Given the description of an element on the screen output the (x, y) to click on. 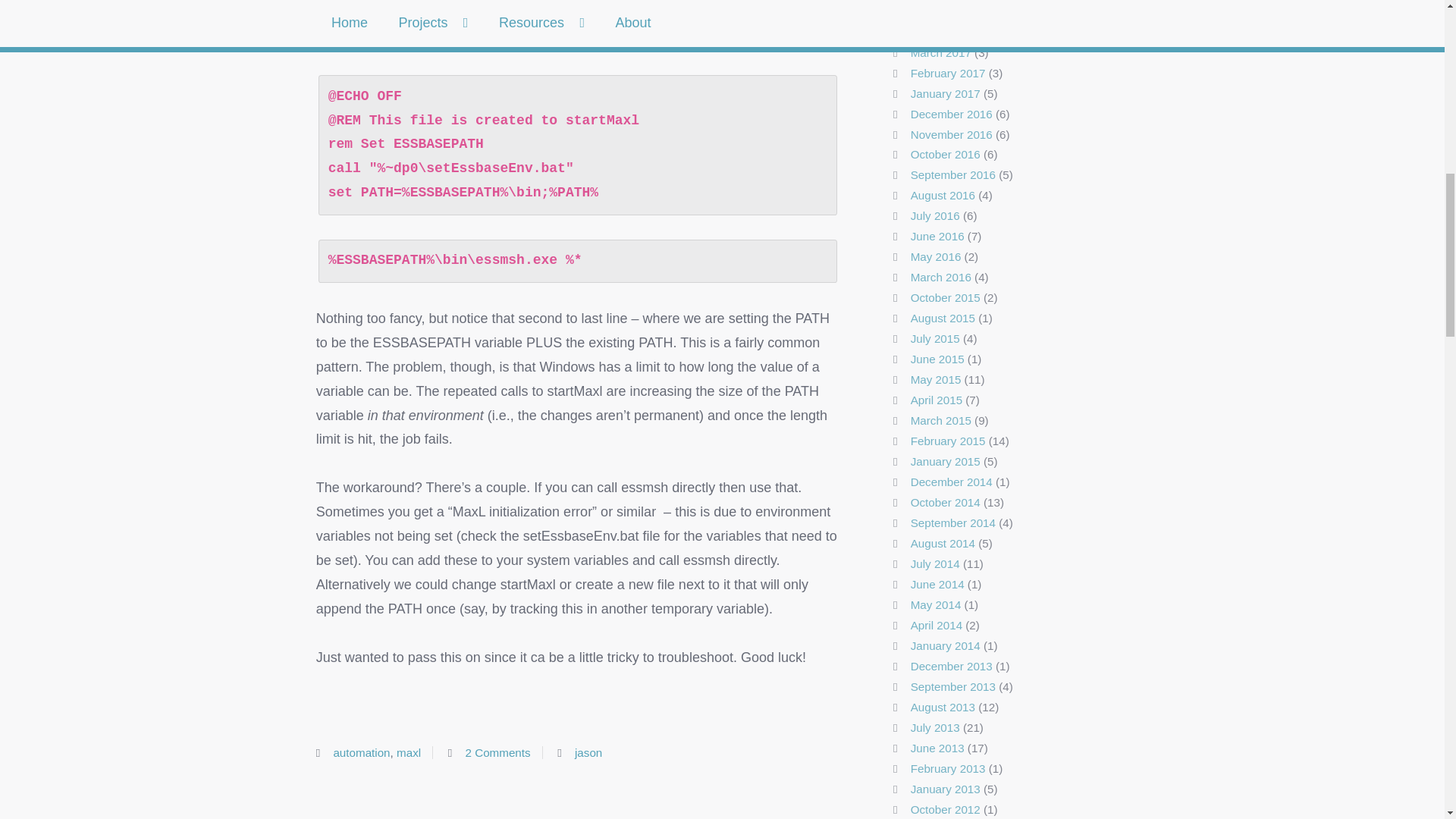
maxl (408, 752)
Posts by jason (588, 752)
2 Comments (498, 752)
automation (361, 752)
